Given the description of an element on the screen output the (x, y) to click on. 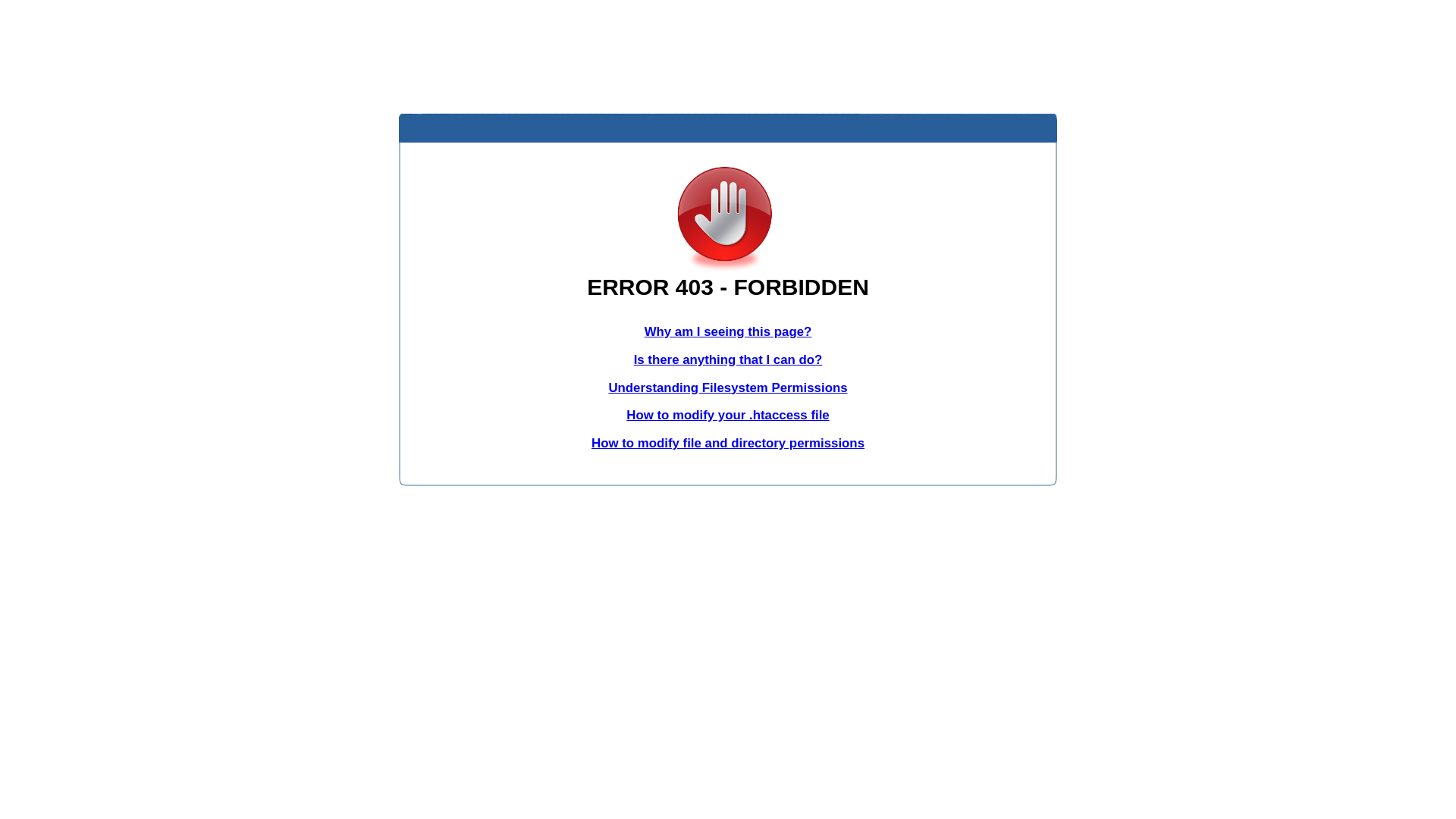
How to modify your .htaccess file Element type: text (727, 414)
Why am I seeing this page? Element type: text (728, 331)
Understanding Filesystem Permissions Element type: text (727, 387)
How to modify file and directory permissions Element type: text (727, 443)
Is there anything that I can do? Element type: text (727, 359)
